Given the description of an element on the screen output the (x, y) to click on. 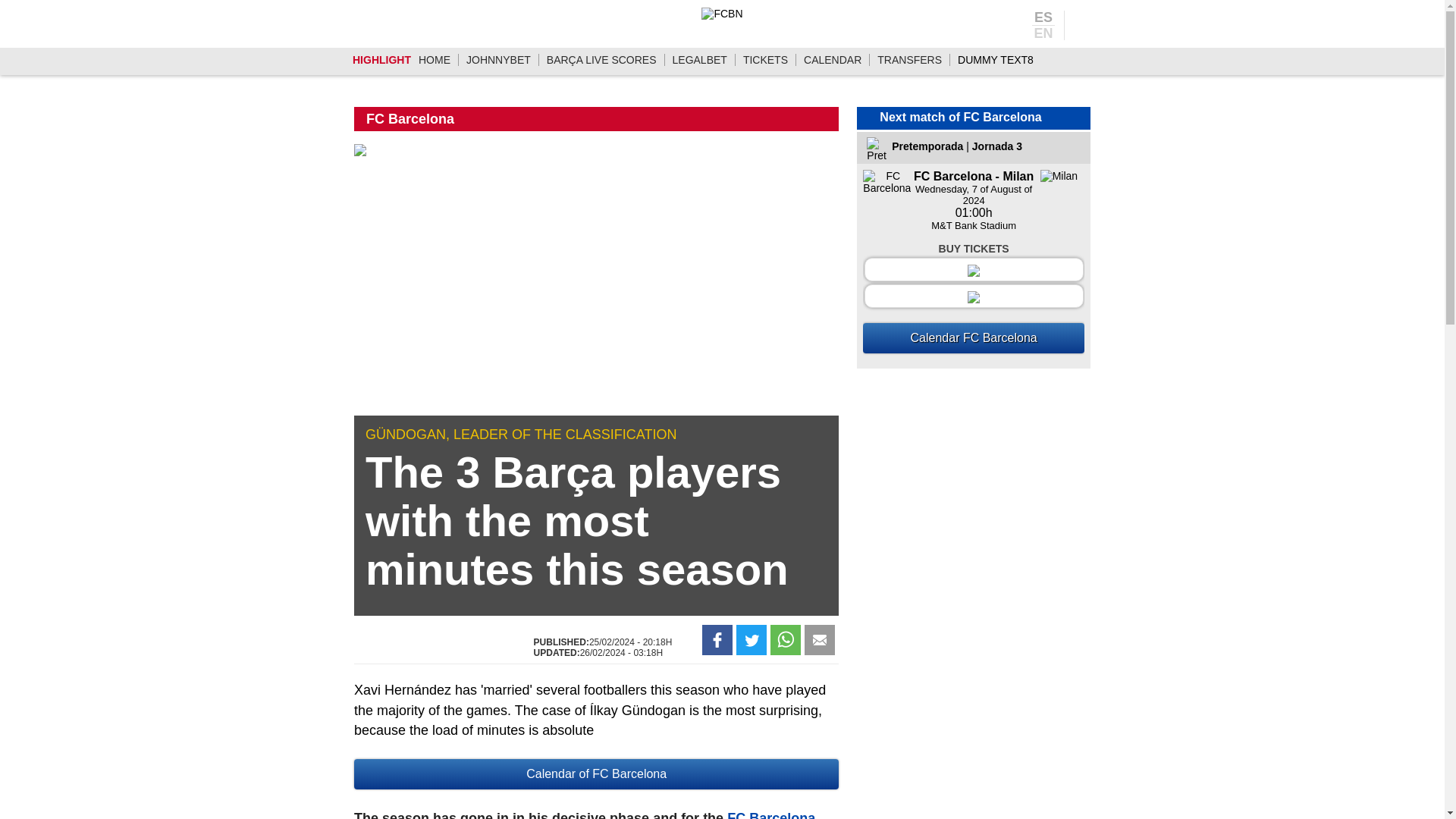
CALENDAR (832, 60)
FC Barcelona (770, 814)
JOHNNYBET (498, 60)
FC Barcelona (410, 118)
English (1043, 32)
HOME (434, 60)
FCBN (721, 13)
Castellano (1043, 17)
JOHNNEYBET (498, 60)
ES (1043, 17)
